Given the description of an element on the screen output the (x, y) to click on. 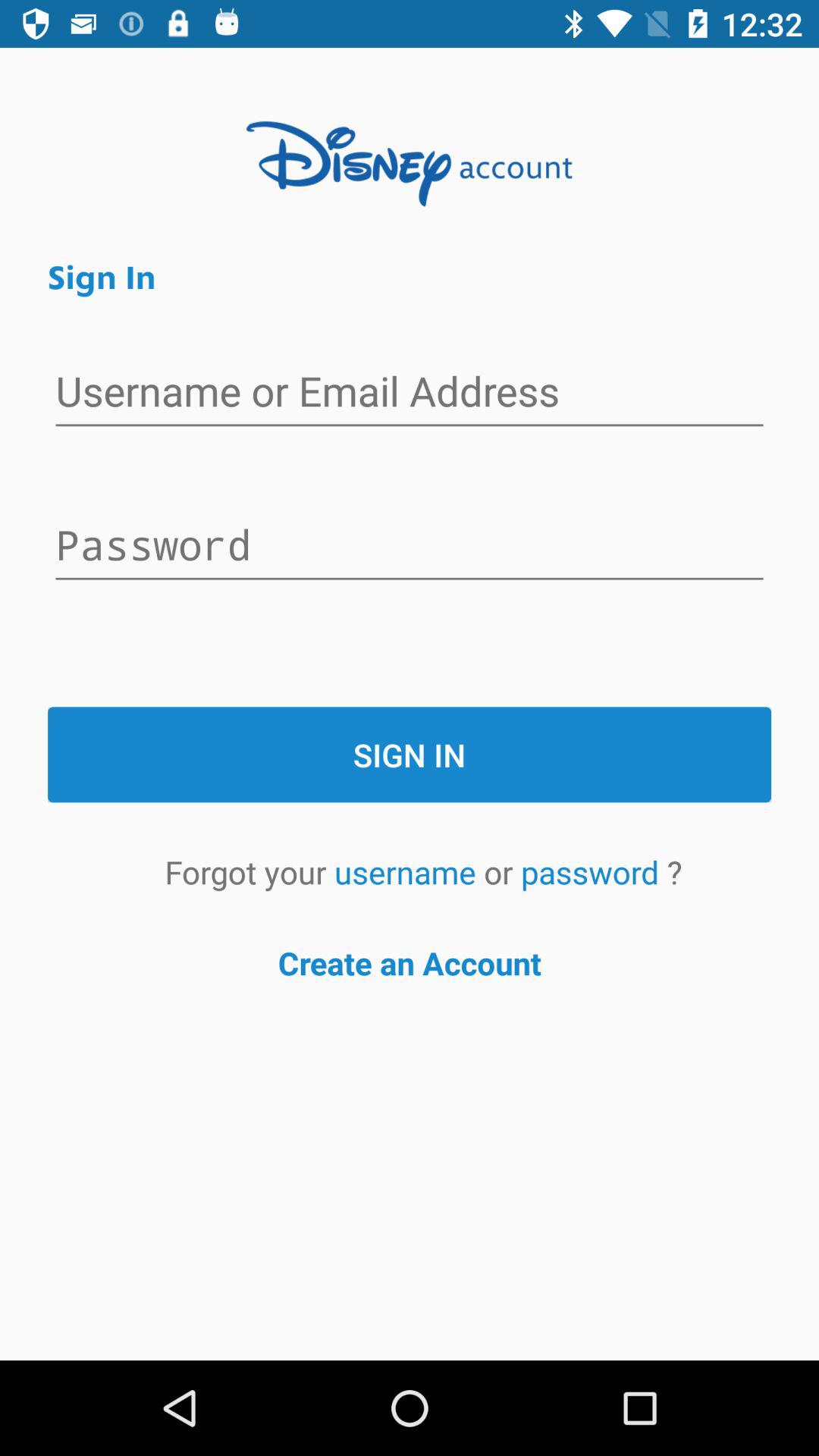
type the password (409, 546)
